Given the description of an element on the screen output the (x, y) to click on. 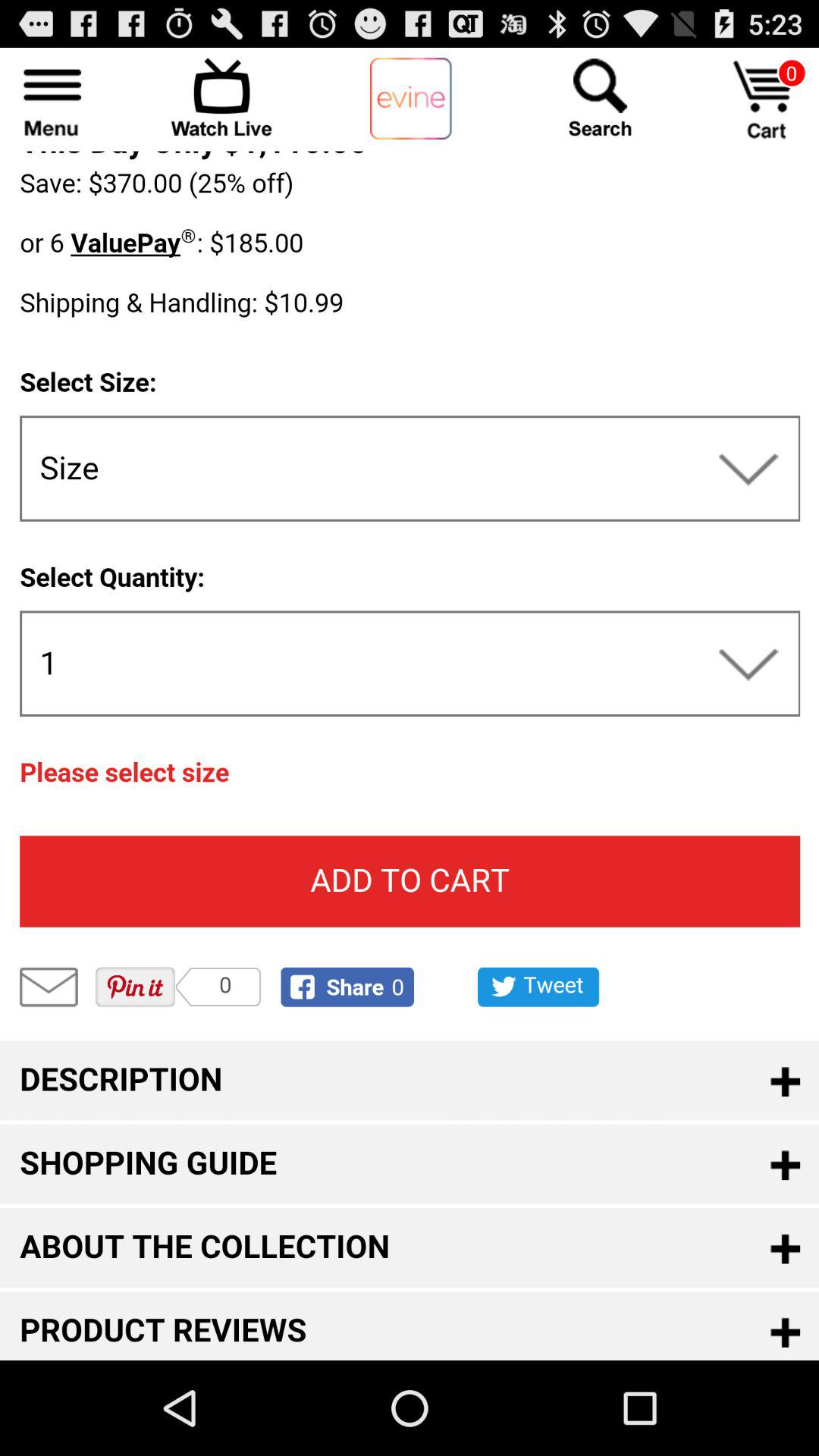
go to search (599, 97)
